Given the description of an element on the screen output the (x, y) to click on. 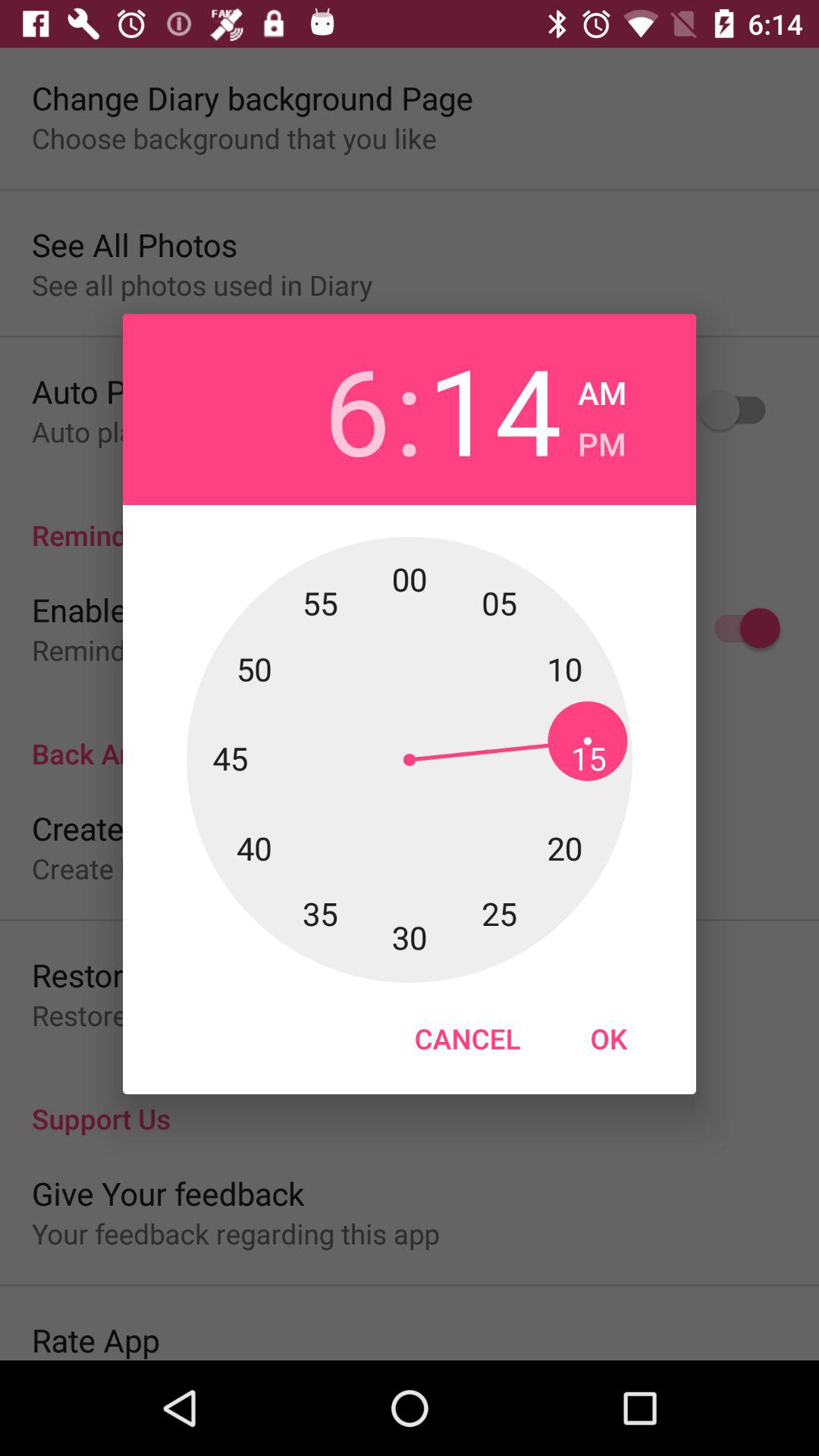
click item next to the 14 item (601, 439)
